Given the description of an element on the screen output the (x, y) to click on. 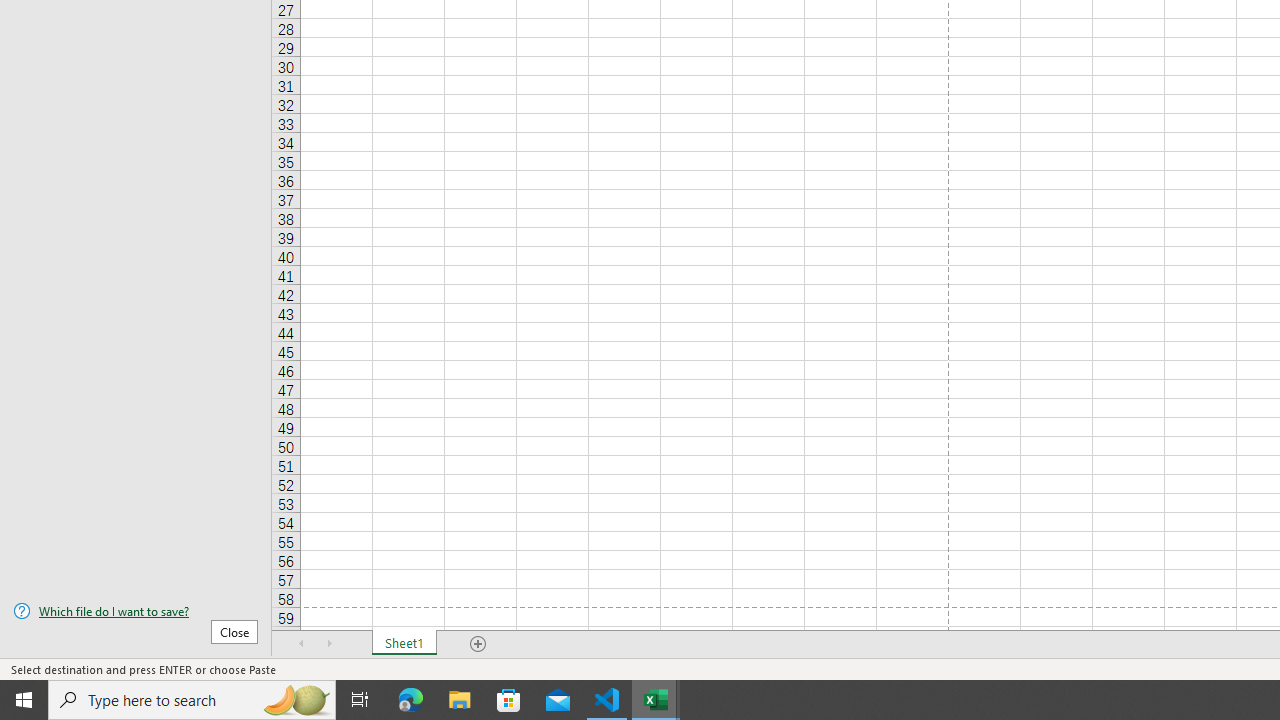
Search highlights icon opens search home window (295, 699)
Microsoft Store (509, 699)
File Explorer (460, 699)
Microsoft Edge (411, 699)
Type here to search (191, 699)
Start (24, 699)
Excel - 2 running windows (656, 699)
Task View (359, 699)
